Given the description of an element on the screen output the (x, y) to click on. 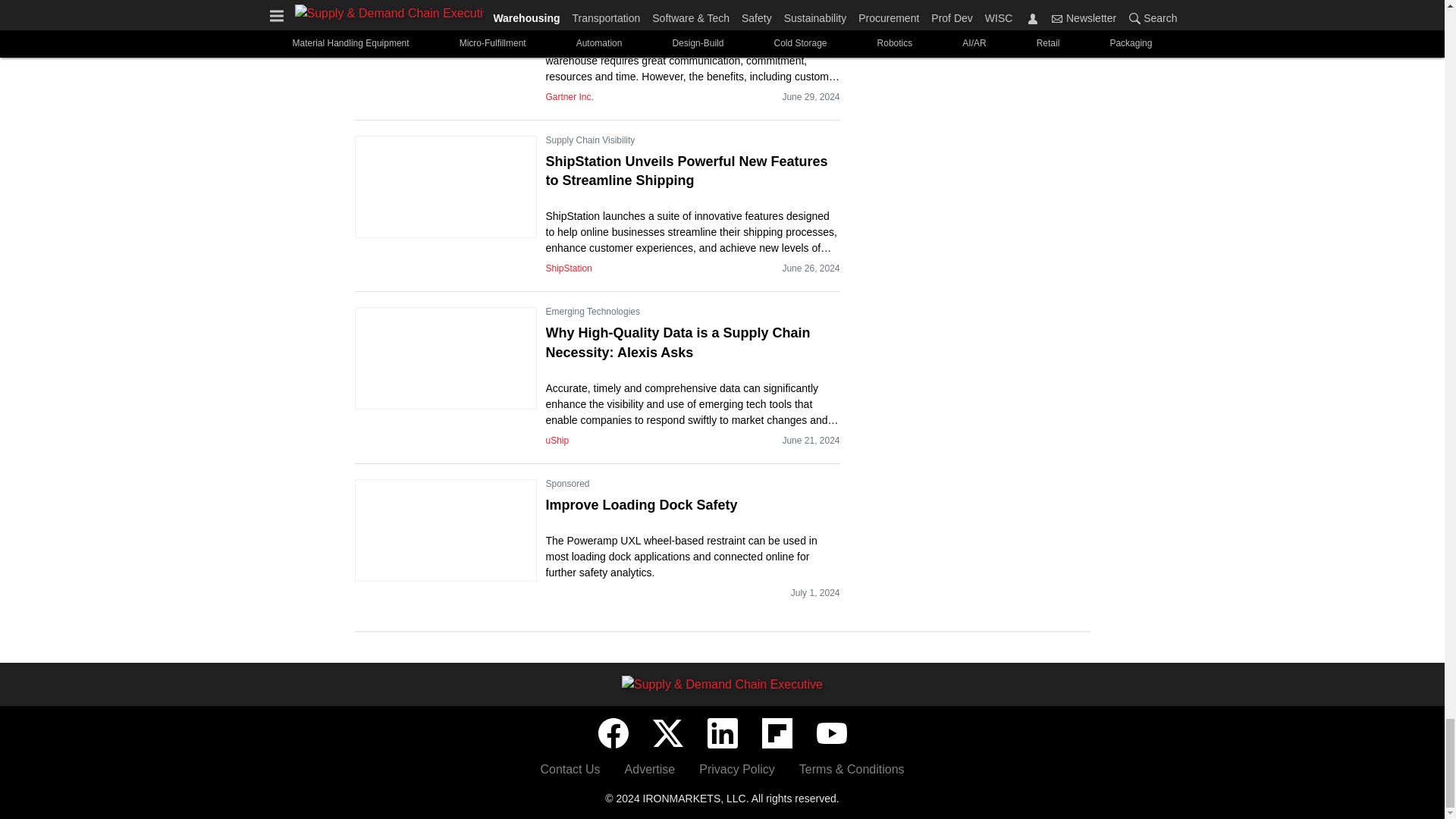
Facebook icon (611, 733)
LinkedIn icon (721, 733)
YouTube icon (830, 733)
Flipboard icon (776, 733)
Twitter X icon (667, 733)
